Given the description of an element on the screen output the (x, y) to click on. 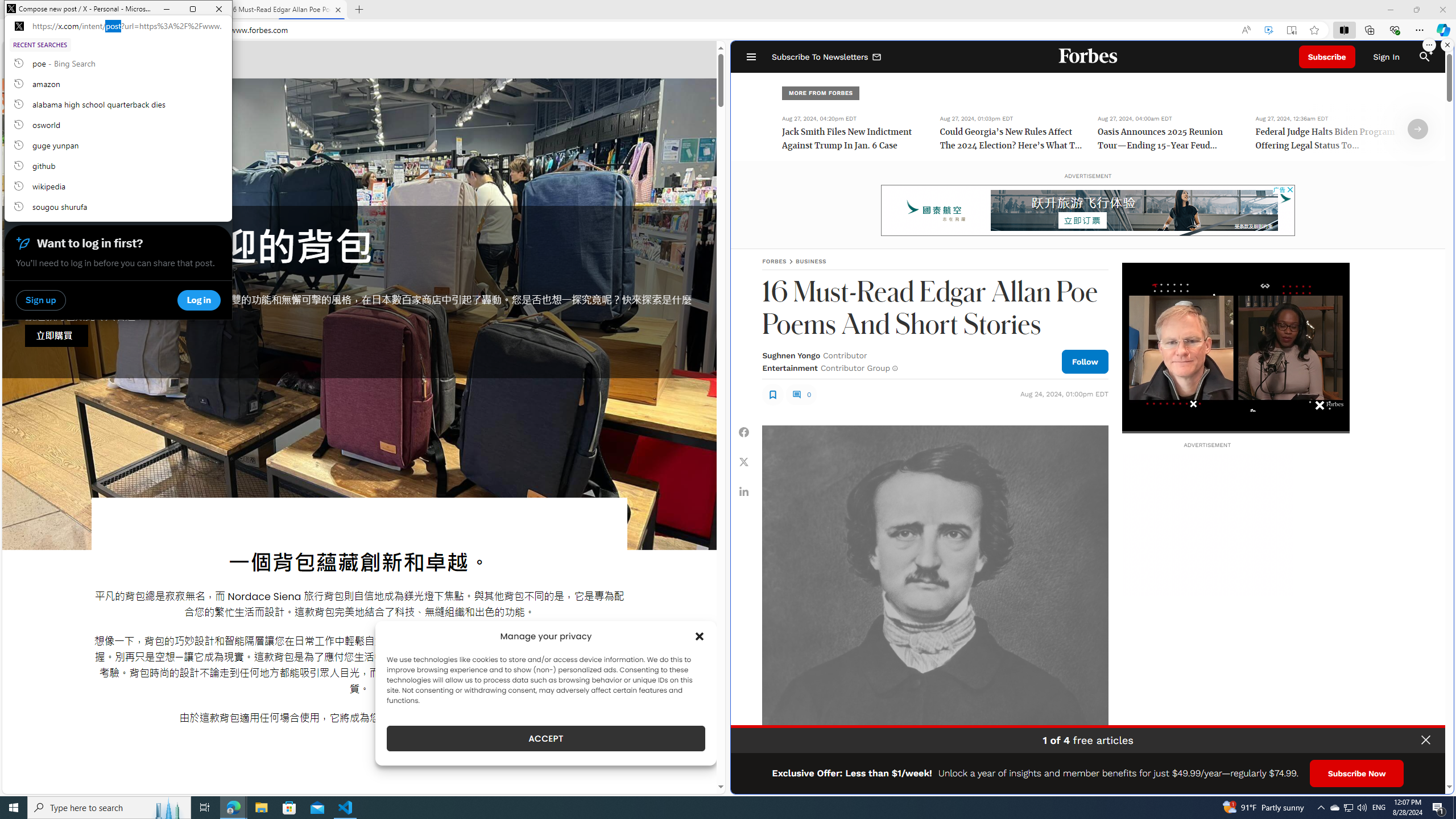
Share Twitter (743, 461)
Start (13, 807)
Sign In (1386, 56)
github, recent searches from history (117, 165)
Search highlights icon opens search home window (167, 807)
Type here to search (108, 807)
0 (801, 394)
Subscribe To Newsletters (826, 56)
Microsoft Edge - 2 running windows (233, 807)
Enhance video (1268, 29)
